Given the description of an element on the screen output the (x, y) to click on. 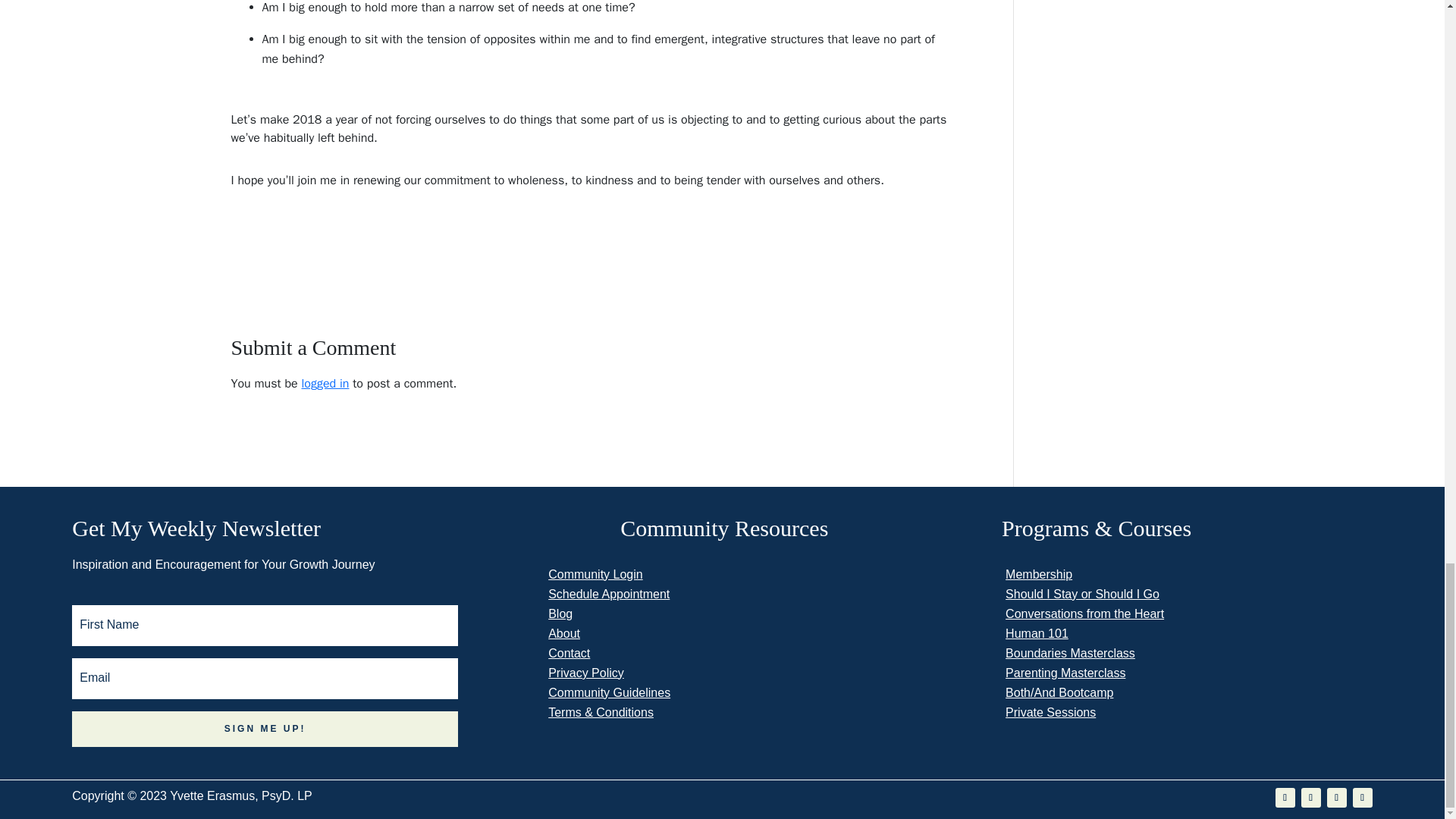
Schedule Appointment (608, 594)
Follow on Instagram (1362, 797)
Privacy Policy (586, 672)
Follow on LinkedIn (1336, 797)
Blog (560, 613)
logged in (325, 383)
Contact (568, 653)
Follow on Youtube (1310, 797)
Community Login (595, 574)
About (563, 633)
Community Guidelines (608, 692)
Follow on Facebook (1285, 797)
SIGN ME UP! (264, 729)
